Given the description of an element on the screen output the (x, y) to click on. 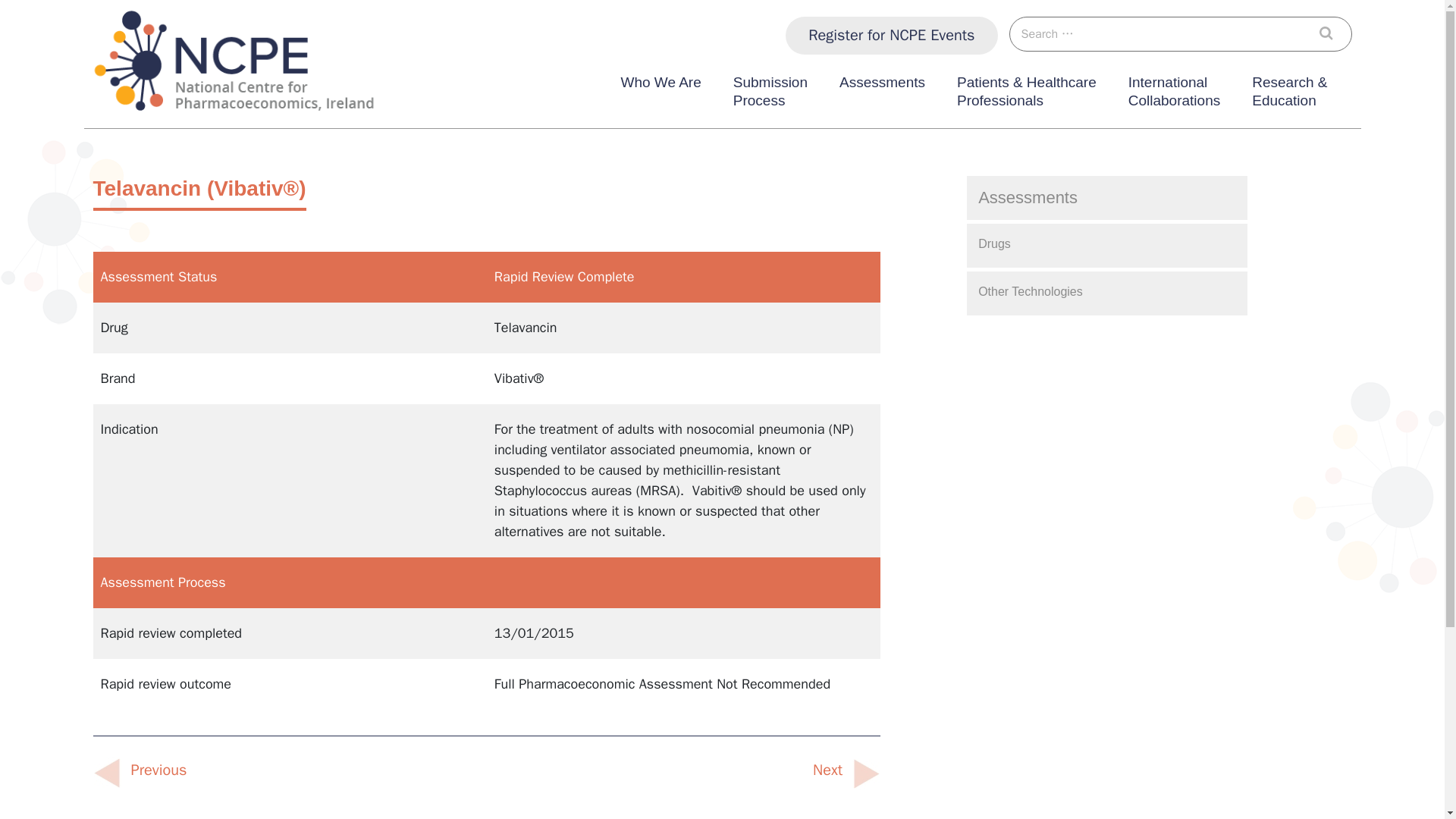
Search (1330, 33)
Register for NCPE Events (891, 35)
National Centre for Pharmacoeconomics (212, 126)
Search (1330, 33)
Who We Are (659, 94)
Assessments (770, 94)
Search (882, 94)
